Given the description of an element on the screen output the (x, y) to click on. 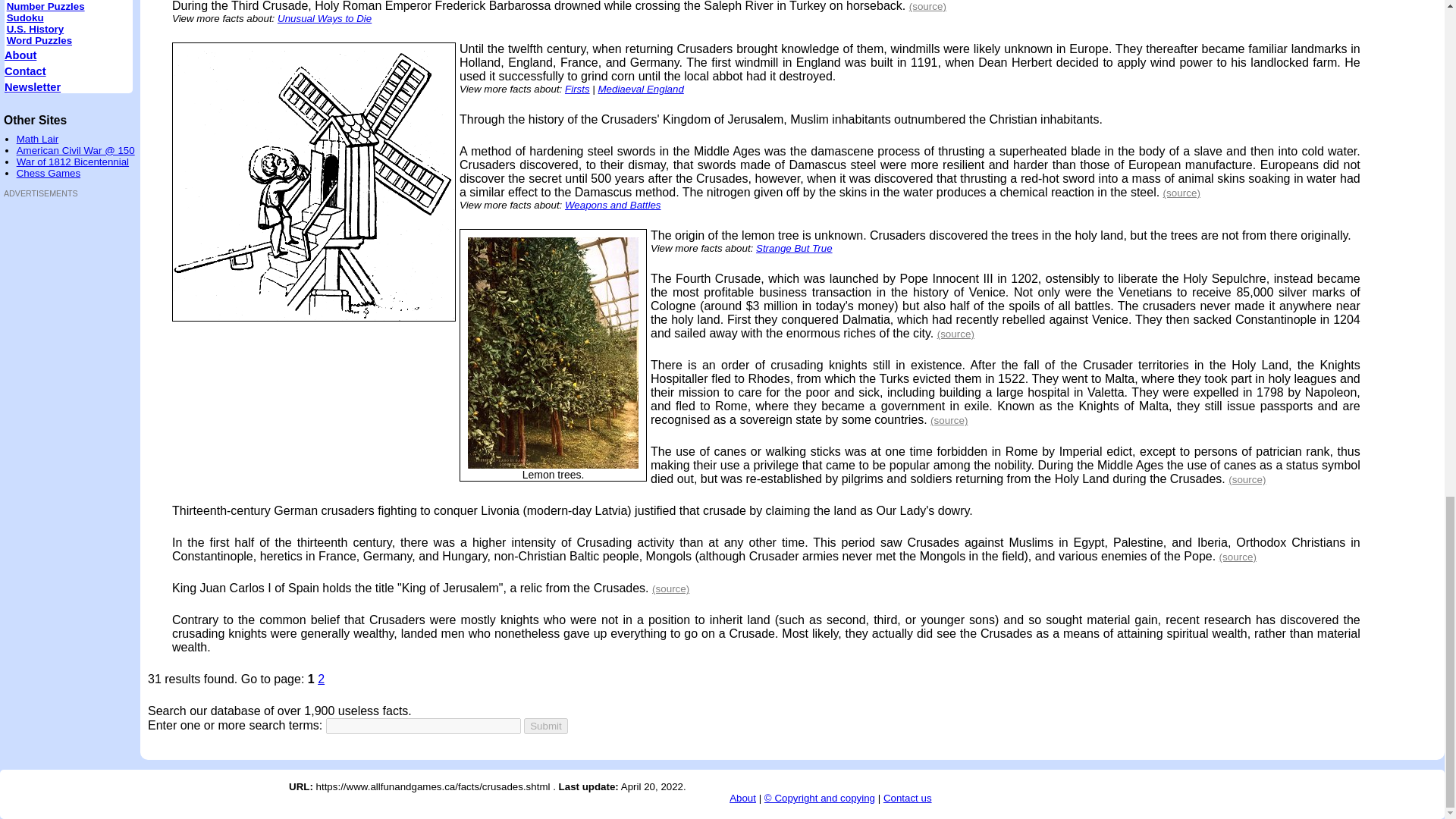
Medieval illustration of a windmill (313, 185)
Submit (545, 725)
